Given the description of an element on the screen output the (x, y) to click on. 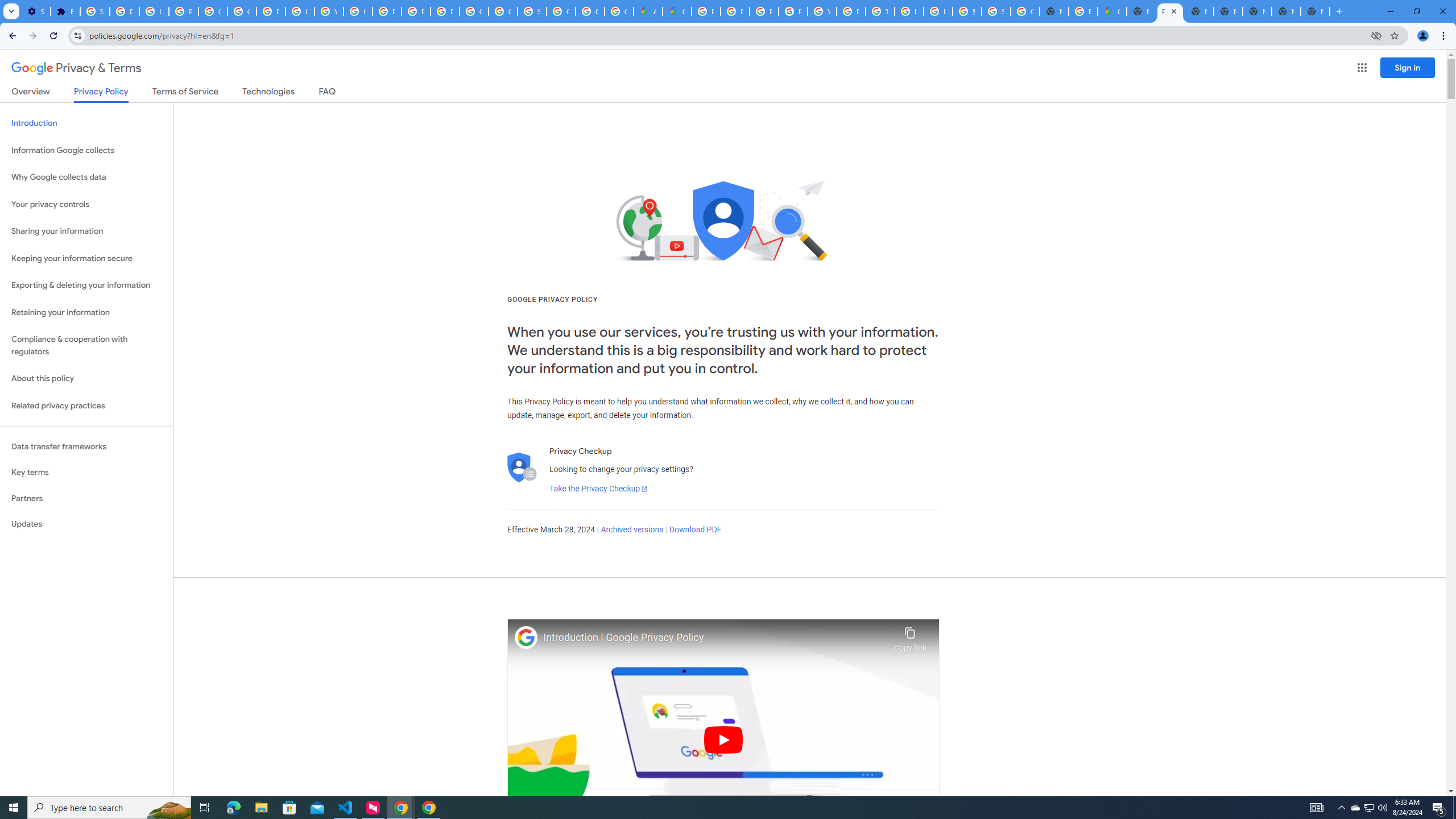
Introduction (86, 122)
Photo image of Google (526, 636)
Settings - On startup (35, 11)
Archived versions (631, 529)
Data transfer frameworks (86, 446)
Google Maps (1111, 11)
Retaining your information (86, 312)
